Given the description of an element on the screen output the (x, y) to click on. 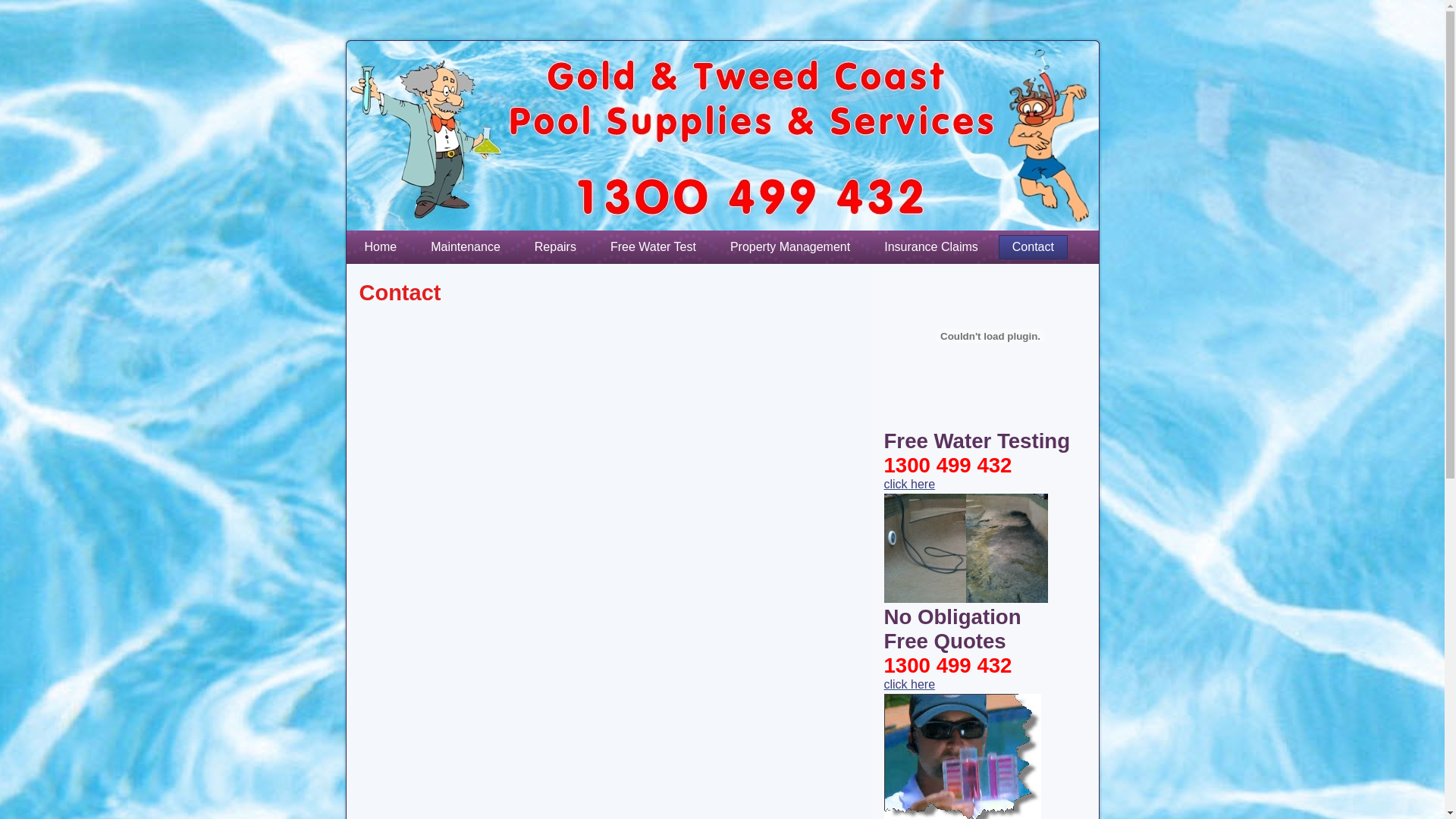
Maintenance Element type: text (465, 247)
Insurance Claims Element type: text (930, 247)
click here Element type: text (909, 483)
Repairs Element type: text (554, 247)
Contact Element type: text (1032, 247)
Free Water Test Element type: text (652, 247)
Home Element type: text (380, 247)
Property Management Element type: text (789, 247)
click here Element type: text (909, 683)
